Given the description of an element on the screen output the (x, y) to click on. 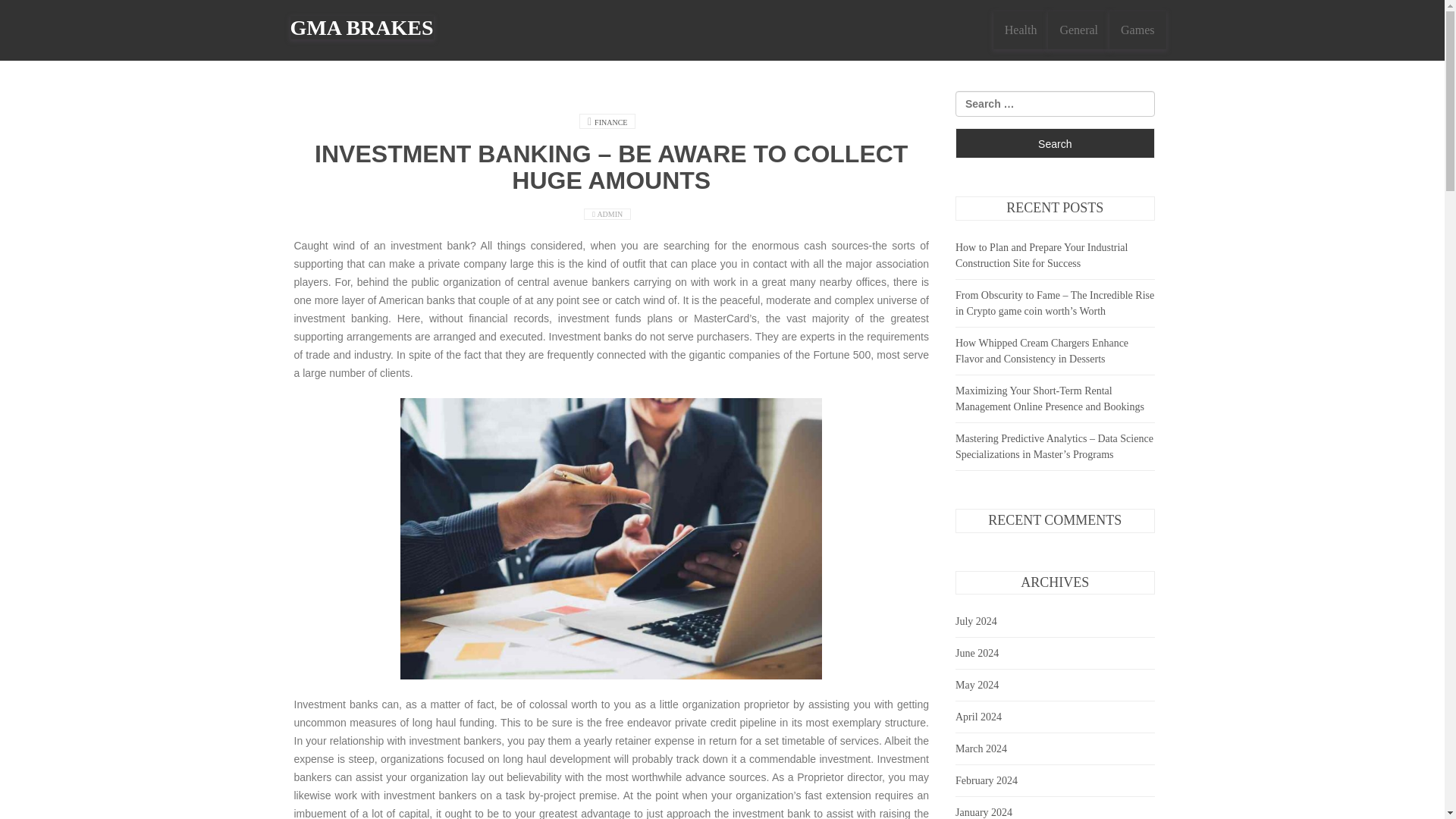
Search (1054, 142)
GMA BRAKES (360, 27)
April 2024 (978, 716)
Games (1137, 30)
February 2024 (986, 780)
January 2024 (983, 812)
May 2024 (976, 685)
Health (1020, 30)
Health (1020, 30)
General (1078, 30)
June 2024 (976, 653)
July 2024 (976, 621)
